Given the description of an element on the screen output the (x, y) to click on. 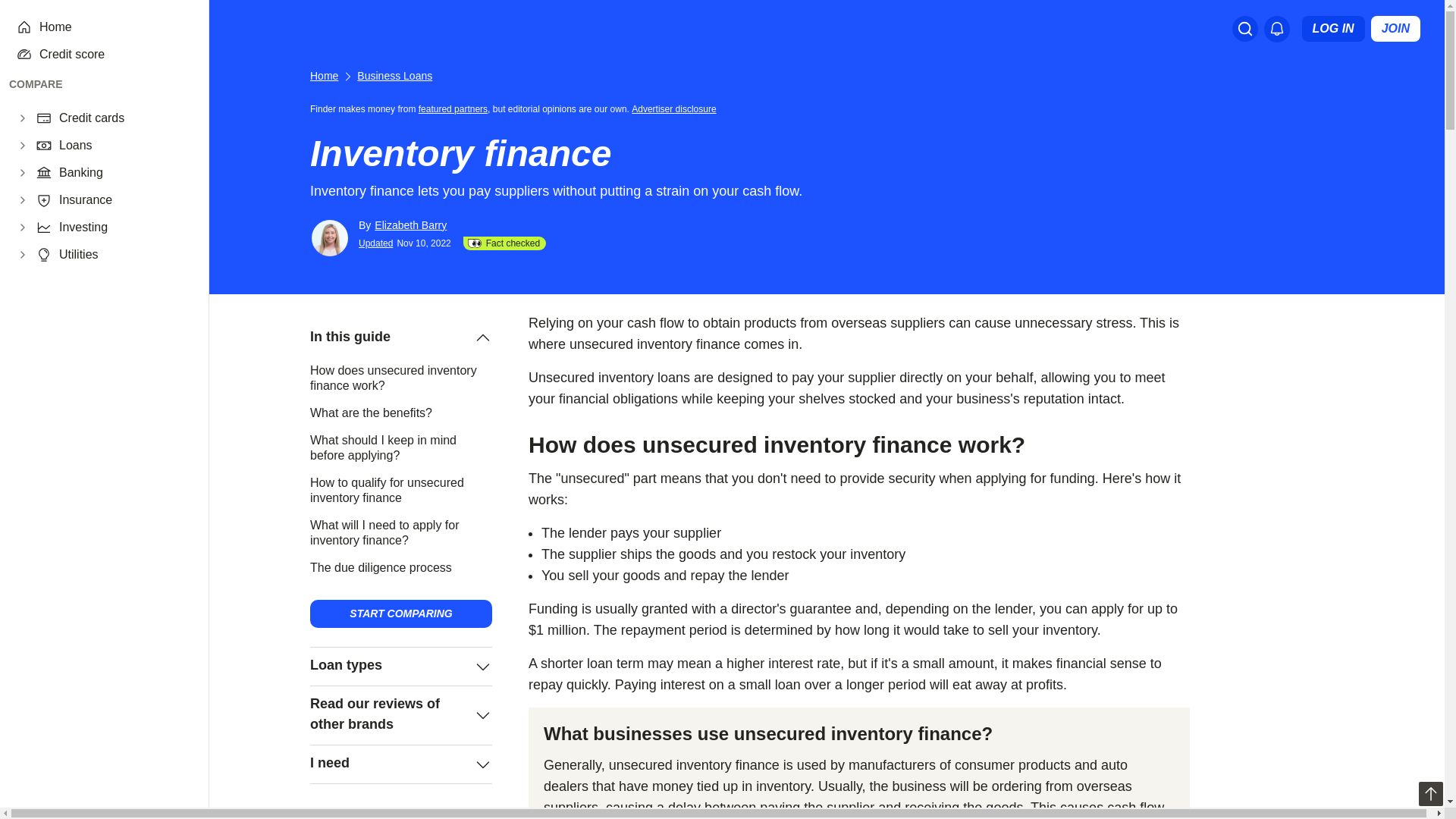
Home (114, 27)
Back to Top (1430, 793)
Loans (124, 145)
Credit cards (124, 117)
Credit score (114, 54)
Important information about this website (676, 108)
